Given the description of an element on the screen output the (x, y) to click on. 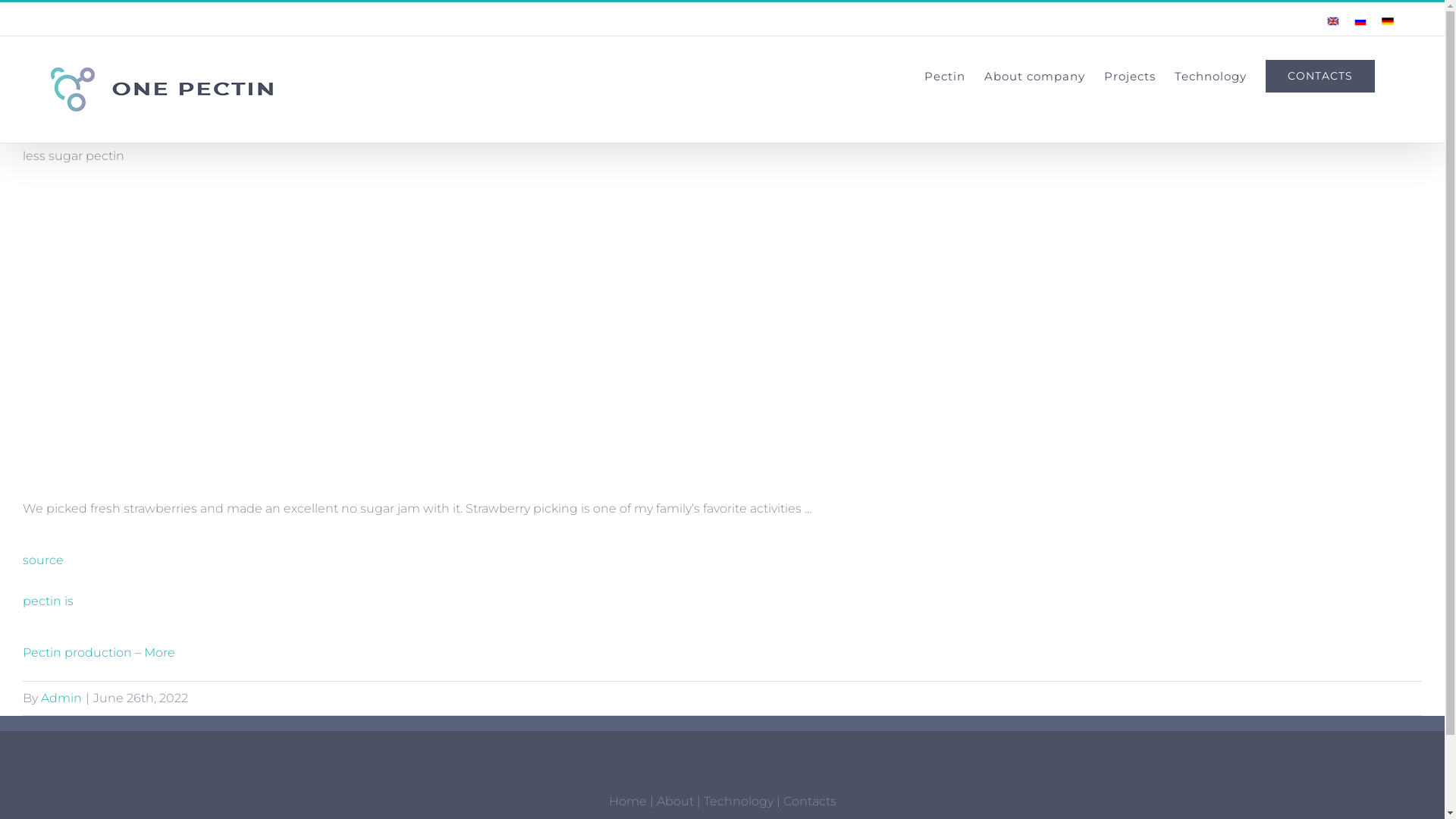
Home Element type: text (627, 800)
Russian Element type: text (1360, 21)
CONTACTS Element type: text (1319, 75)
German Element type: text (1387, 21)
About Element type: text (674, 800)
Technology Element type: text (738, 800)
English Element type: text (1333, 21)
Technology Element type: text (1210, 75)
About company Element type: text (1034, 75)
Contacts Element type: text (808, 800)
Pectin Element type: text (944, 75)
pectin is Element type: text (47, 600)
Projects Element type: text (1129, 75)
source Element type: text (42, 559)
Admin Element type: text (60, 697)
